Given the description of an element on the screen output the (x, y) to click on. 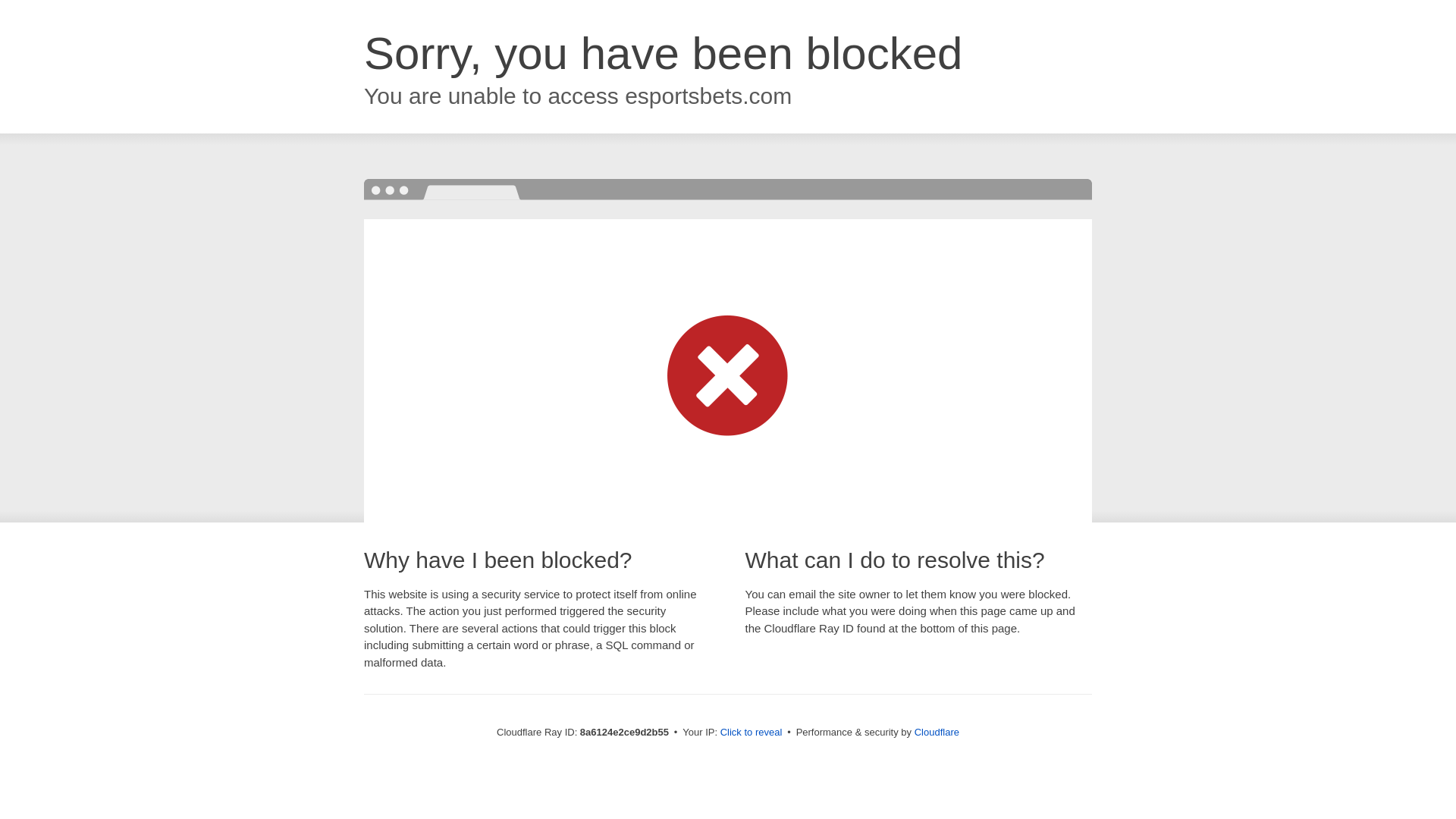
Cloudflare (936, 731)
Click to reveal (751, 732)
